Given the description of an element on the screen output the (x, y) to click on. 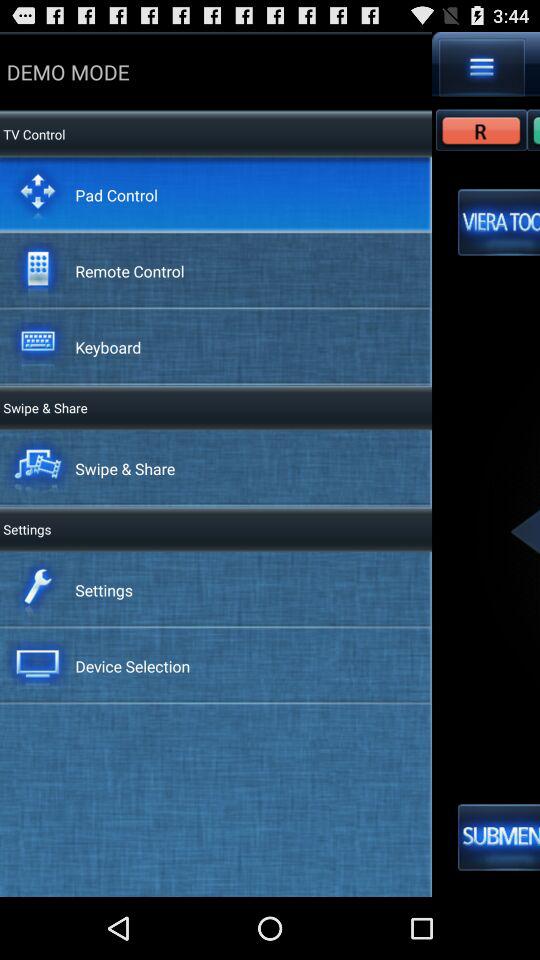
swipe until pad control app (116, 194)
